Given the description of an element on the screen output the (x, y) to click on. 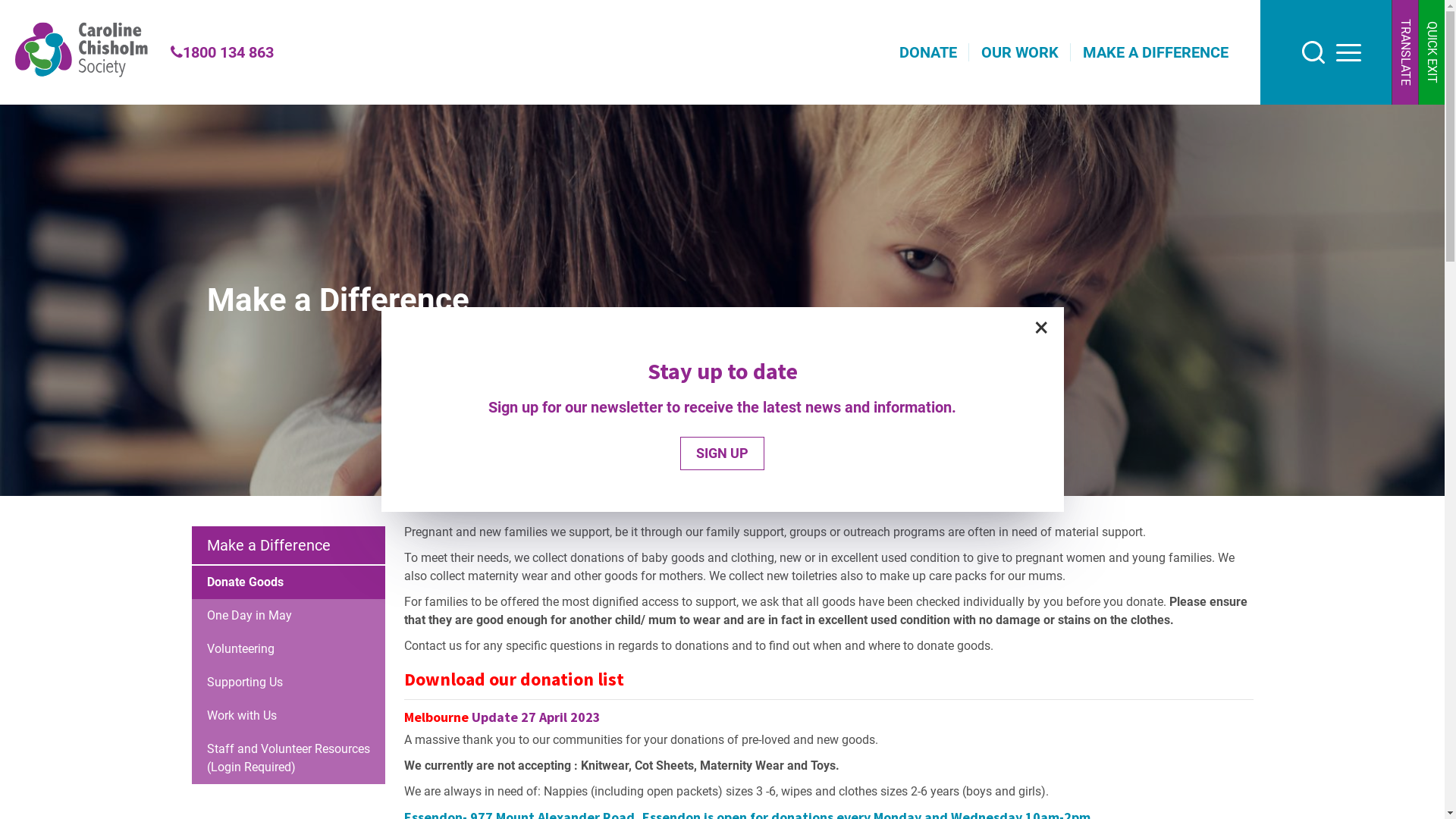
Work with Us Element type: text (287, 715)
Volunteering Element type: text (287, 649)
Donate Goods Element type: text (287, 582)
1800 134 863 Element type: text (221, 51)
MAKE A DIFFERENCE Element type: text (1155, 51)
QUICK EXIT Element type: text (1431, 52)
SIGN UP Element type: text (722, 453)
Supporting Us Element type: text (287, 682)
DONATE Element type: text (928, 51)
Staff and Volunteer Resources (Login Required) Element type: text (287, 758)
TRANSLATE Element type: text (1404, 52)
Download our donation list Element type: text (513, 678)
One Day in May Element type: text (287, 615)
OUR WORK Element type: text (1019, 51)
